Given the description of an element on the screen output the (x, y) to click on. 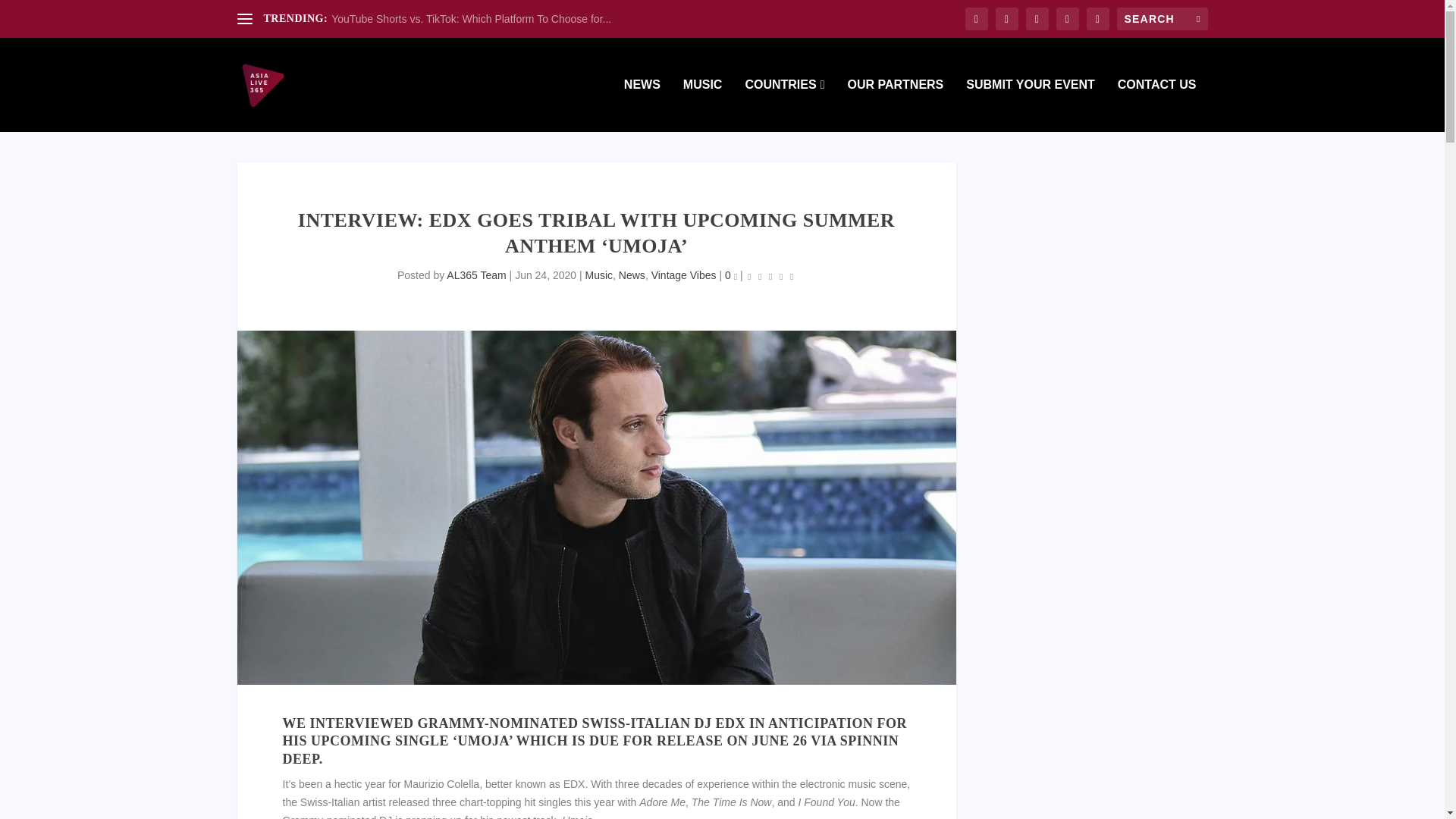
Music (598, 275)
Rating: 0.00 (769, 275)
News (631, 275)
OUR PARTNERS (895, 104)
Search for: (1161, 18)
Posts by AL365 Team (475, 275)
AL365 Team (475, 275)
COUNTRIES (784, 104)
CONTACT US (1157, 104)
Vintage Vibes (683, 275)
